Given the description of an element on the screen output the (x, y) to click on. 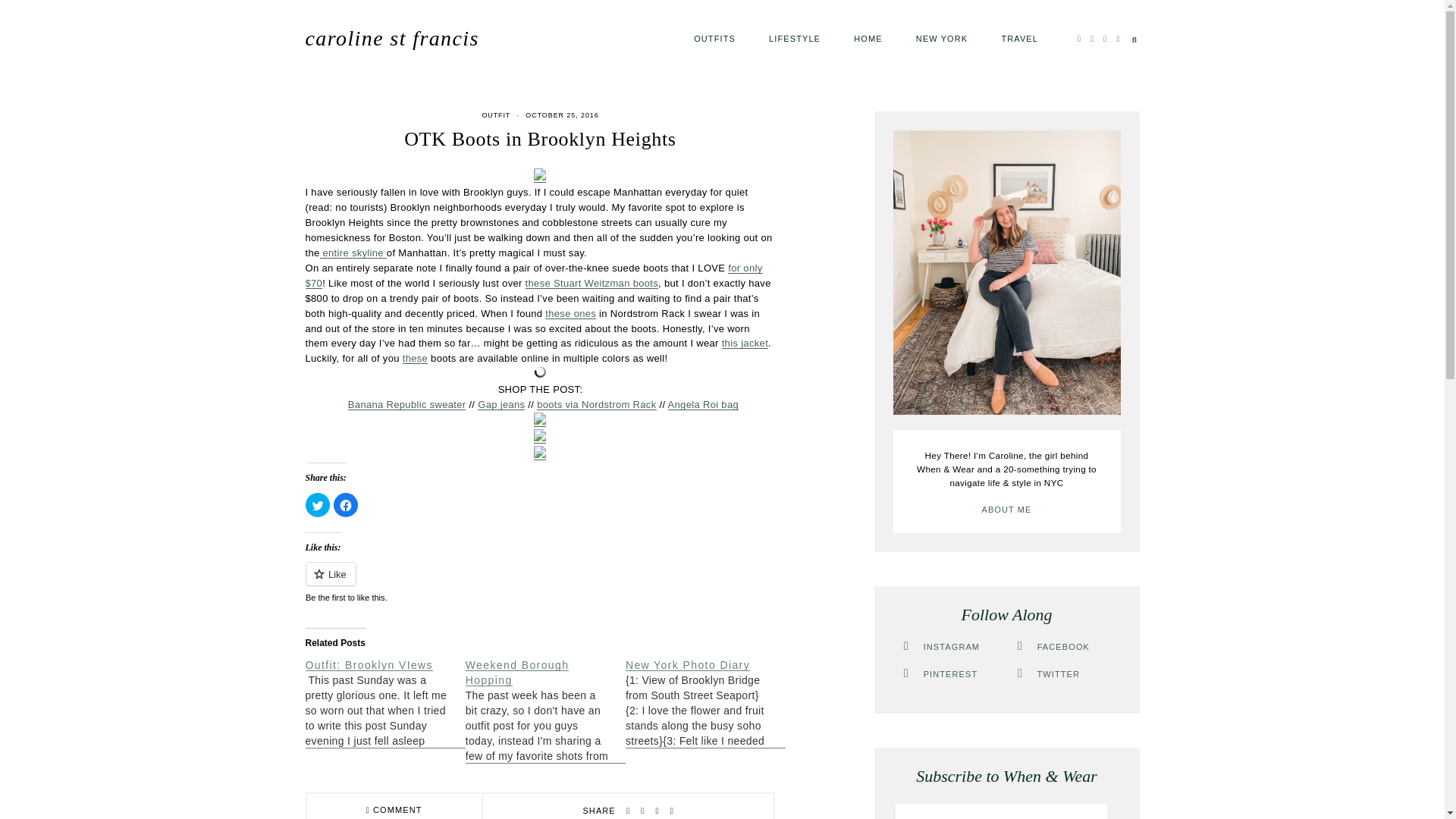
Outfit: Brooklyn VIews (384, 702)
this jacket (745, 342)
New York Photo Diary (706, 702)
caroline st francis (391, 37)
NEW YORK (941, 38)
Outfit: Brooklyn VIews (368, 664)
Banana Republic sweater (406, 404)
these ones (569, 313)
Click to share on Facebook (345, 504)
OUTFITS (714, 38)
View all posts in outfit (496, 114)
these Stuart Weitzman boots (591, 283)
Weekend Borough Hopping (517, 672)
entire skyline (353, 252)
Click to share on Twitter (316, 504)
